Given the description of an element on the screen output the (x, y) to click on. 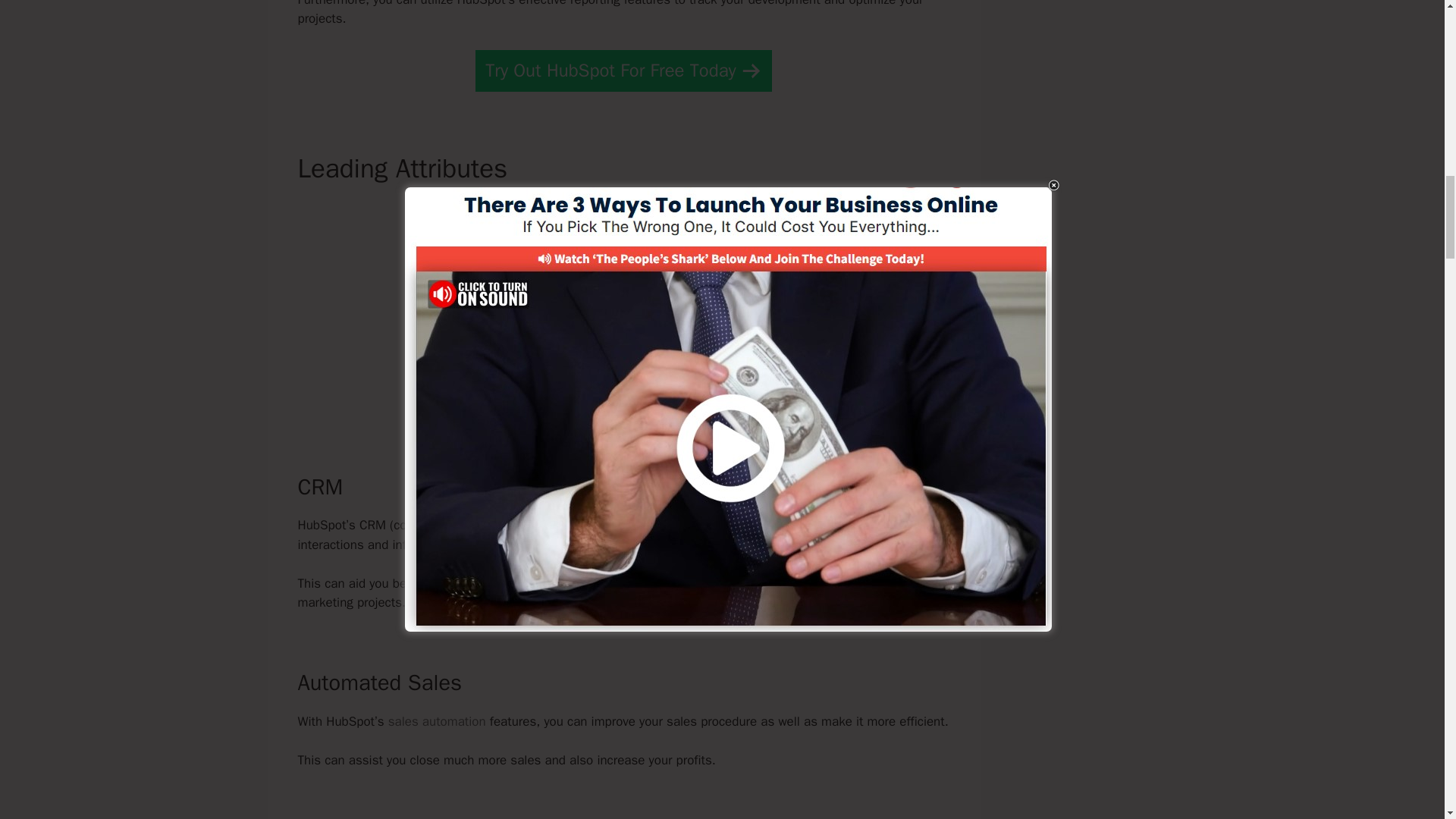
Try Out HubSpot For Free Today (623, 70)
sales automation (437, 721)
